Given the description of an element on the screen output the (x, y) to click on. 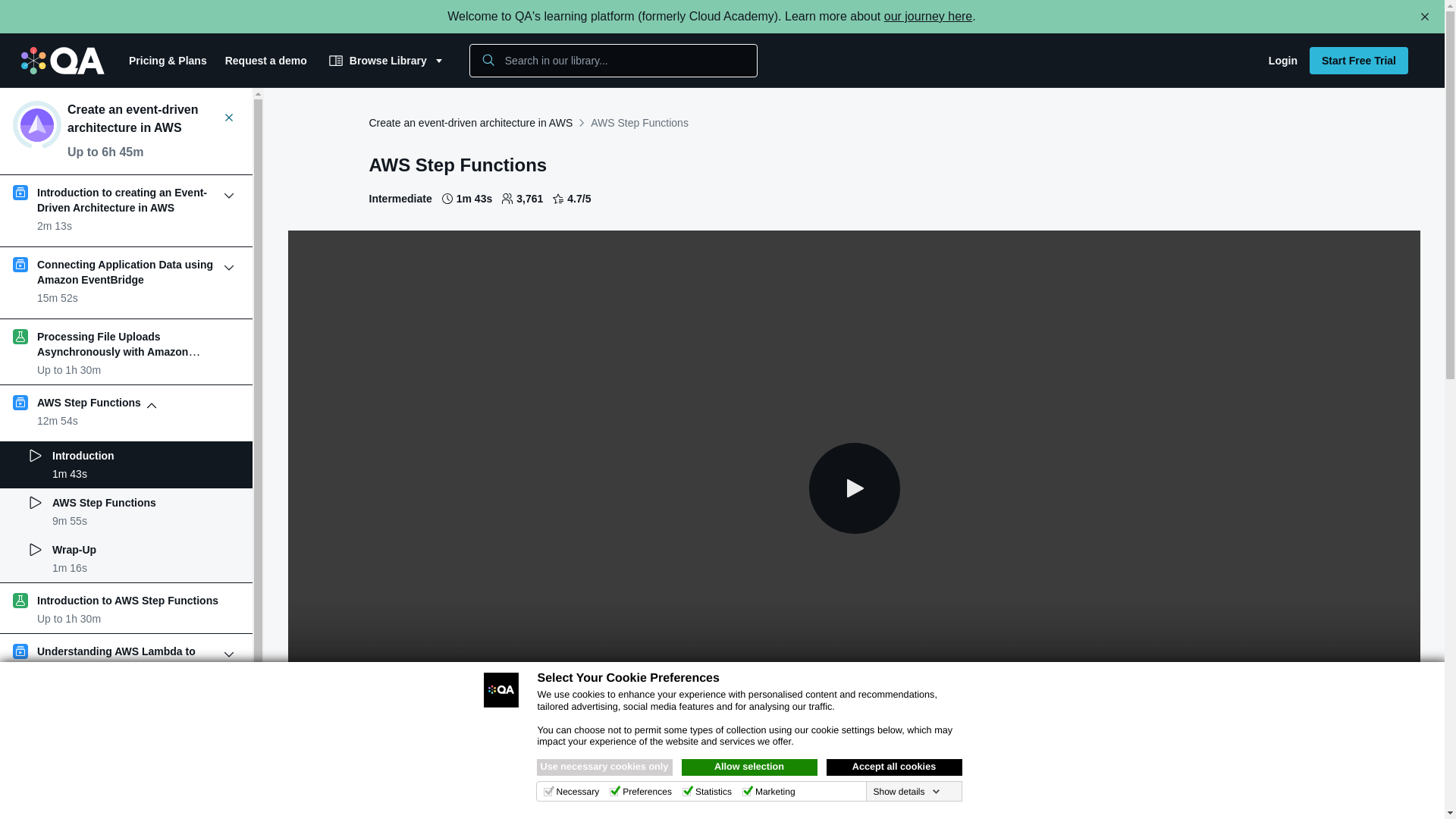
Accept all cookies (894, 767)
Show details (905, 791)
Allow selection (748, 767)
Use necessary cookies only (604, 767)
